Given the description of an element on the screen output the (x, y) to click on. 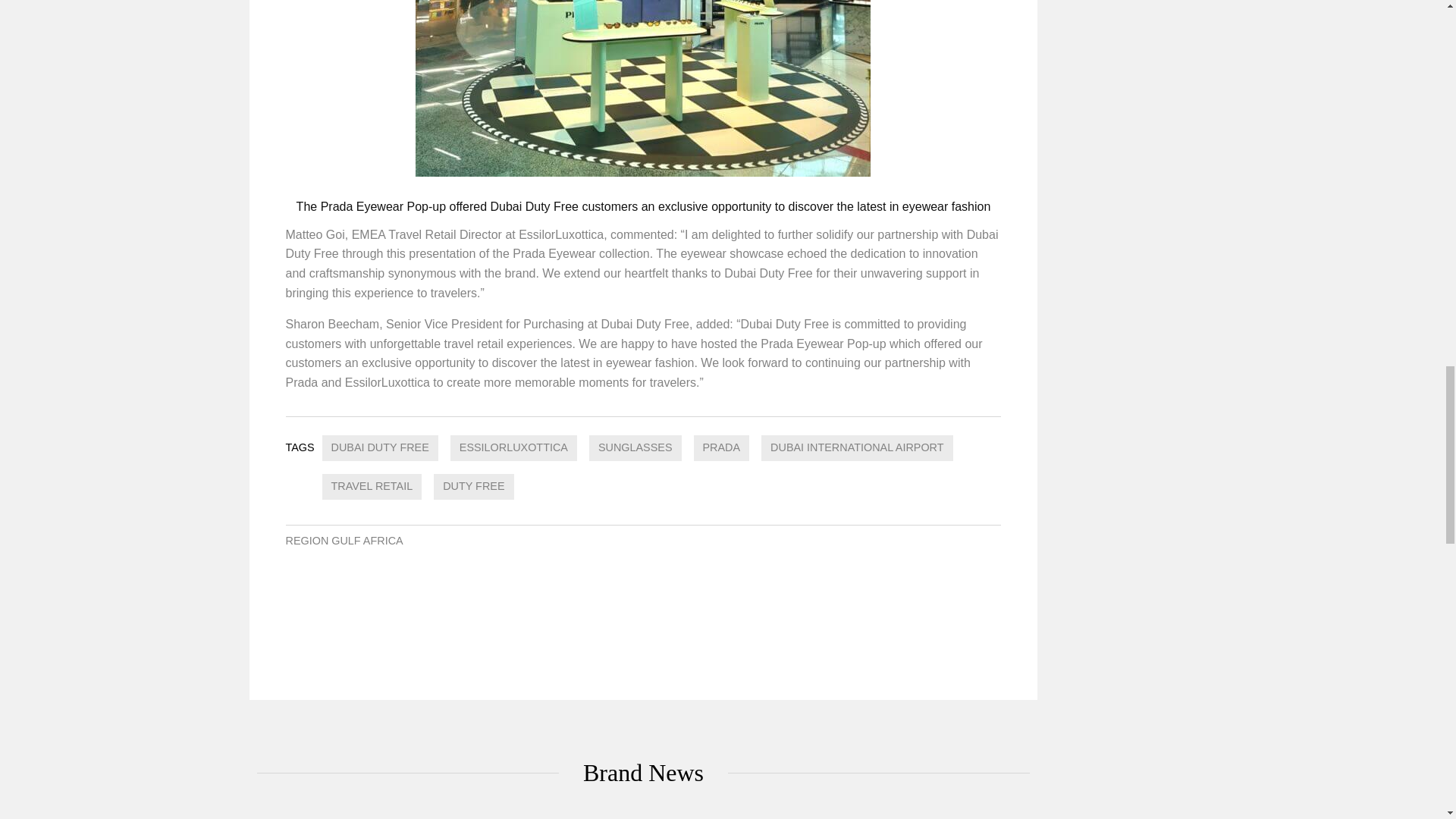
3rd party ad content (1128, 81)
3rd party ad content (643, 619)
